Given the description of an element on the screen output the (x, y) to click on. 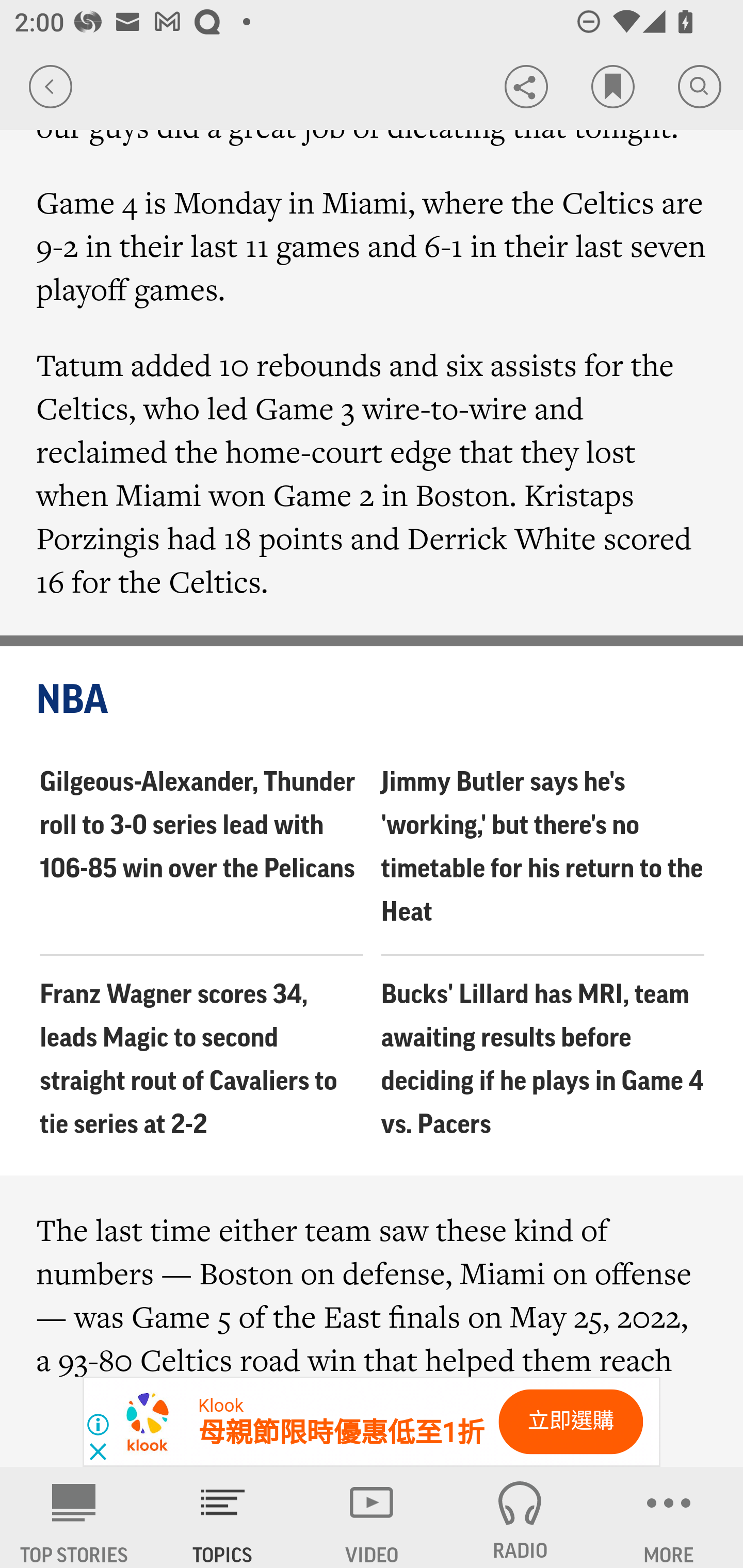
NBA (372, 700)
立即選購 Klook 母親節限時優惠低至1折 立即選購 Klook 母親節限時優惠低至1折 (371, 1421)
AP News TOP STORIES (74, 1517)
TOPICS (222, 1517)
VIDEO (371, 1517)
RADIO (519, 1517)
MORE (668, 1517)
